Given the description of an element on the screen output the (x, y) to click on. 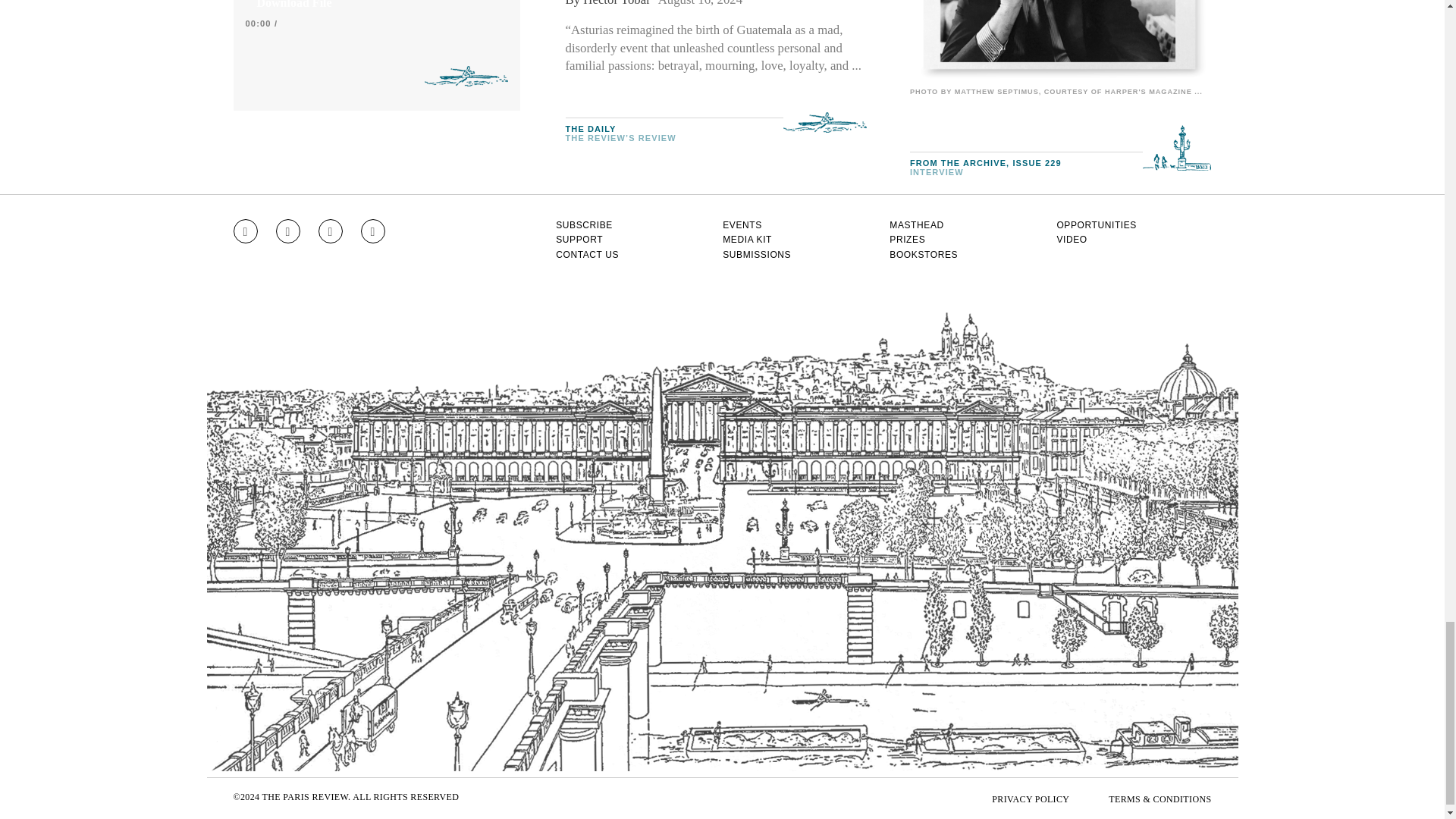
Go to RSS feed (373, 231)
Go to Instagram feed (244, 231)
Go to Twitter feed (330, 231)
Go to Facebook page (287, 231)
undefined (1060, 41)
